Given the description of an element on the screen output the (x, y) to click on. 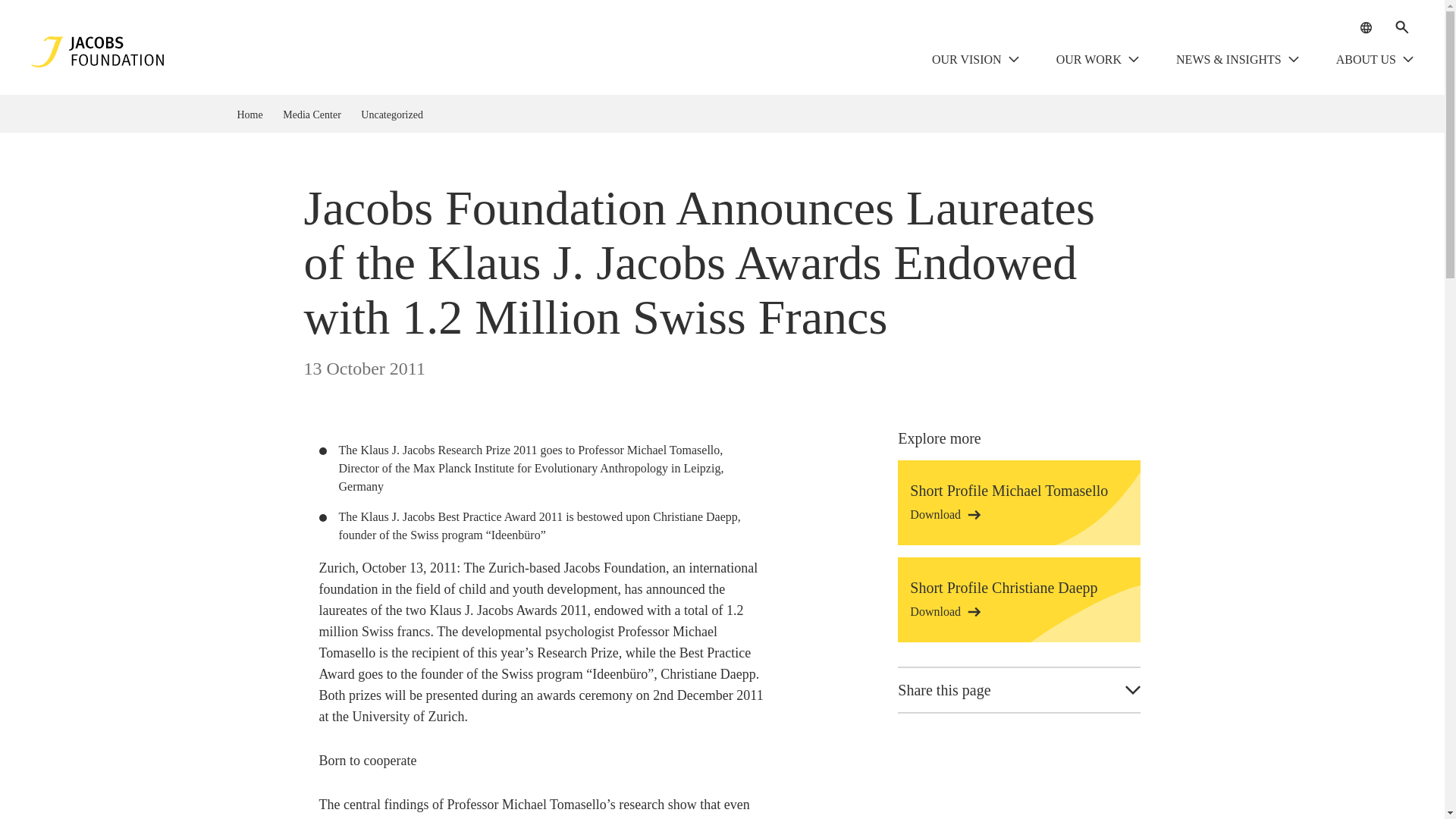
Media Center (318, 116)
ABOUT US (1374, 59)
OUR VISION (975, 59)
Uncategorized (398, 116)
OUR WORK (1098, 59)
Home (255, 116)
Search Open (1401, 27)
